Given the description of an element on the screen output the (x, y) to click on. 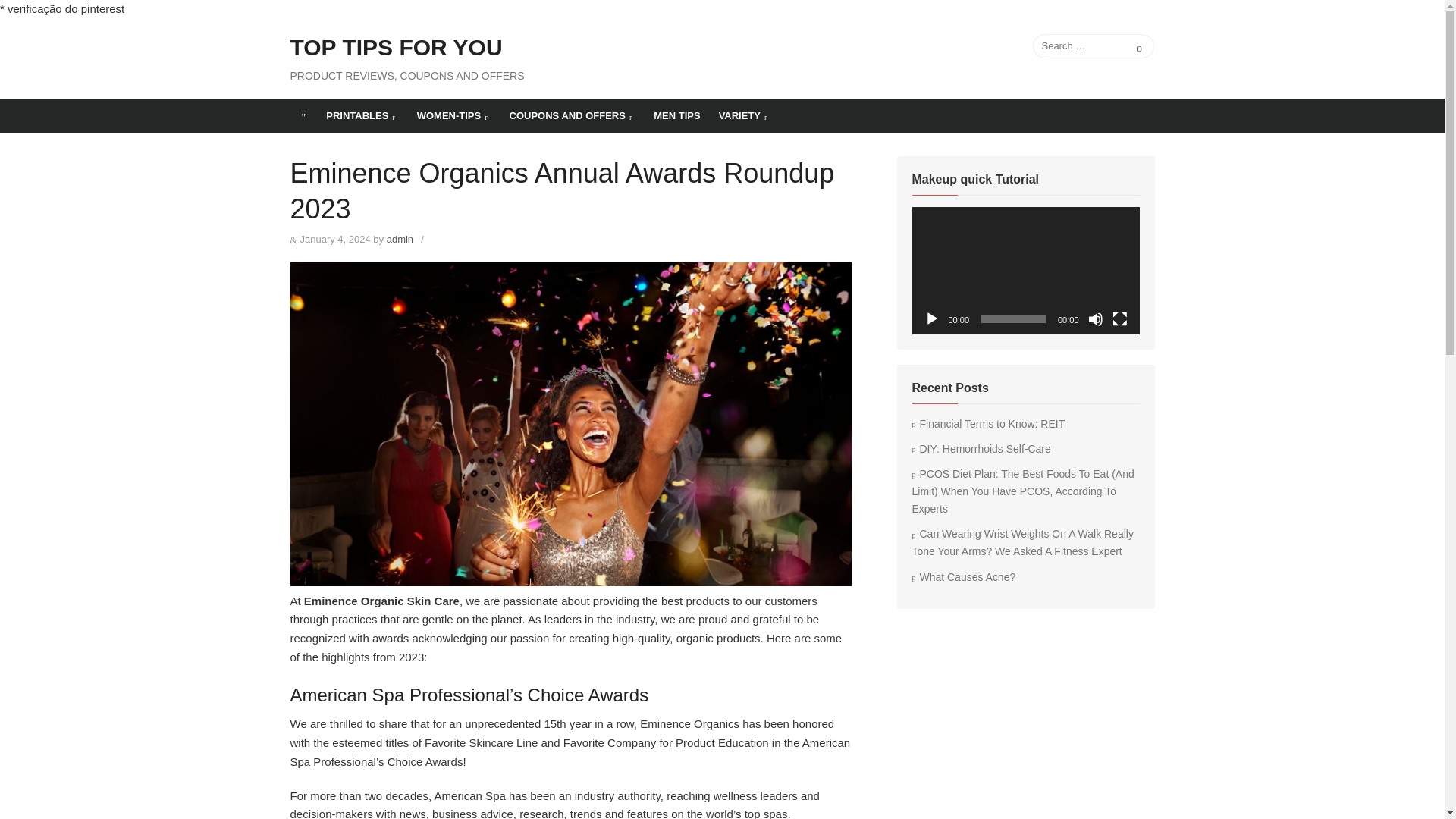
COUPONS AND OFFERS (572, 115)
Fullscreen (1119, 319)
Mute (1094, 319)
Search (1139, 45)
WOMEN-TIPS (453, 115)
PRINTABLES (362, 115)
TOP TIPS FOR YOU (303, 115)
TOP TIPS FOR YOU (395, 47)
Play (931, 319)
